Given the description of an element on the screen output the (x, y) to click on. 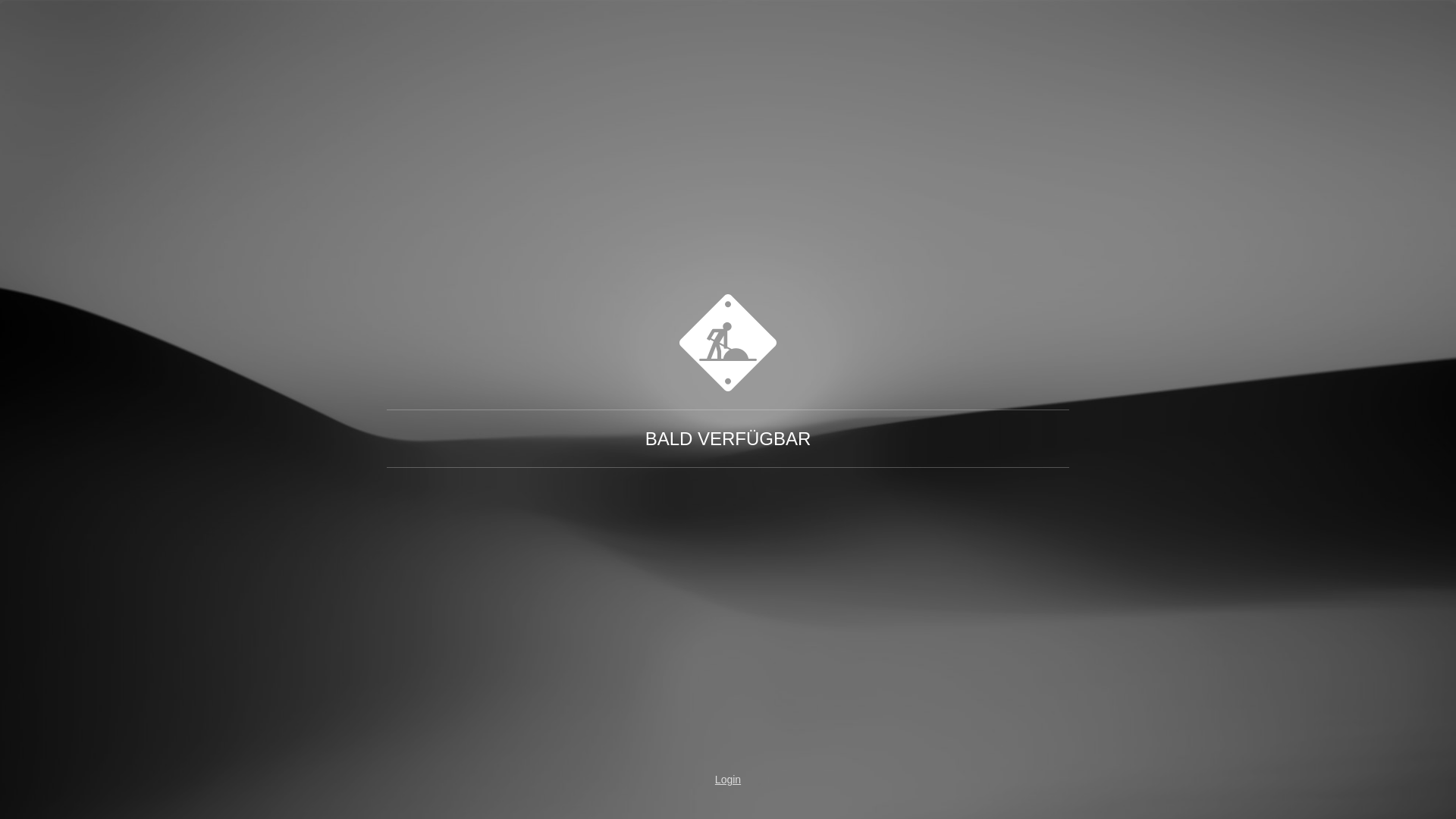
Login Element type: text (727, 779)
